Given the description of an element on the screen output the (x, y) to click on. 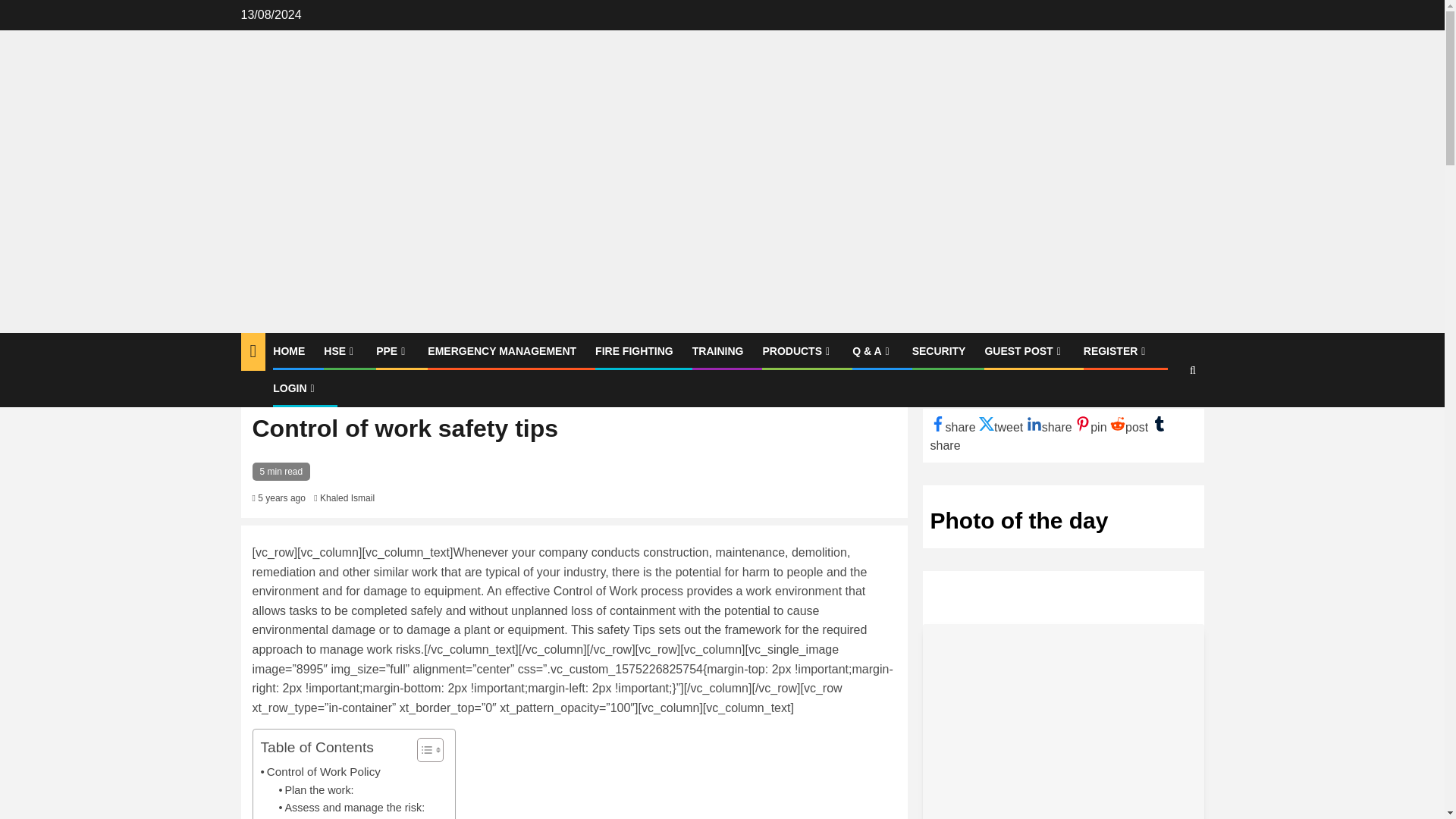
HSE (339, 350)
Assess and manage the risk: (352, 807)
Control of Work Policy (320, 771)
Control the work: (323, 817)
PPE (392, 350)
EMERGENCY MANAGEMENT (502, 350)
Plan the work: (316, 790)
HOME (288, 350)
